Given the description of an element on the screen output the (x, y) to click on. 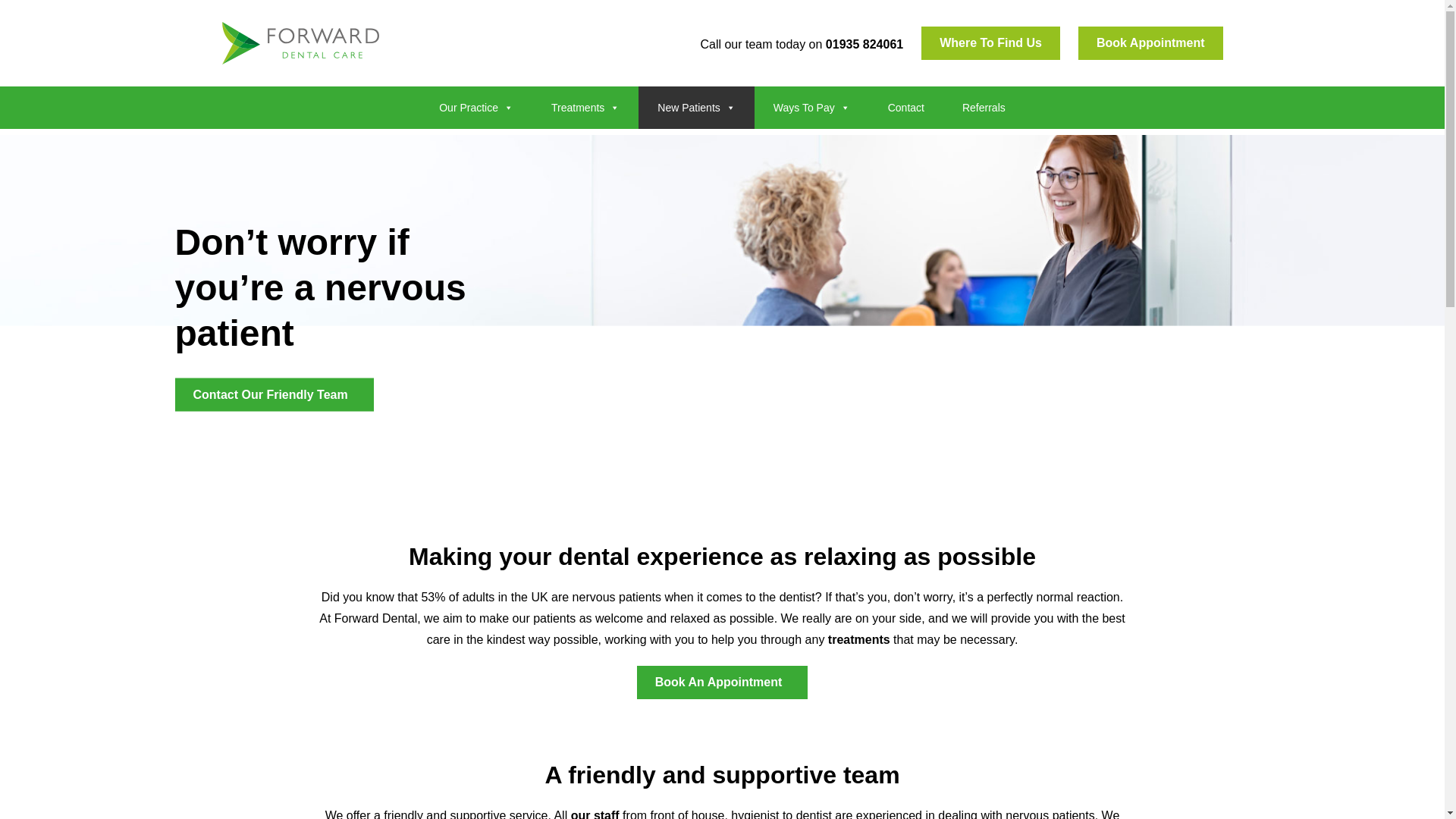
Contact (906, 107)
New Patients (696, 107)
Referrals (984, 107)
Book Appointment (1150, 42)
Ways To Pay (811, 107)
Call our team today on 01935 824061 (801, 43)
Our Practice (476, 107)
Treatments (585, 107)
Where To Find Us (990, 42)
